Given the description of an element on the screen output the (x, y) to click on. 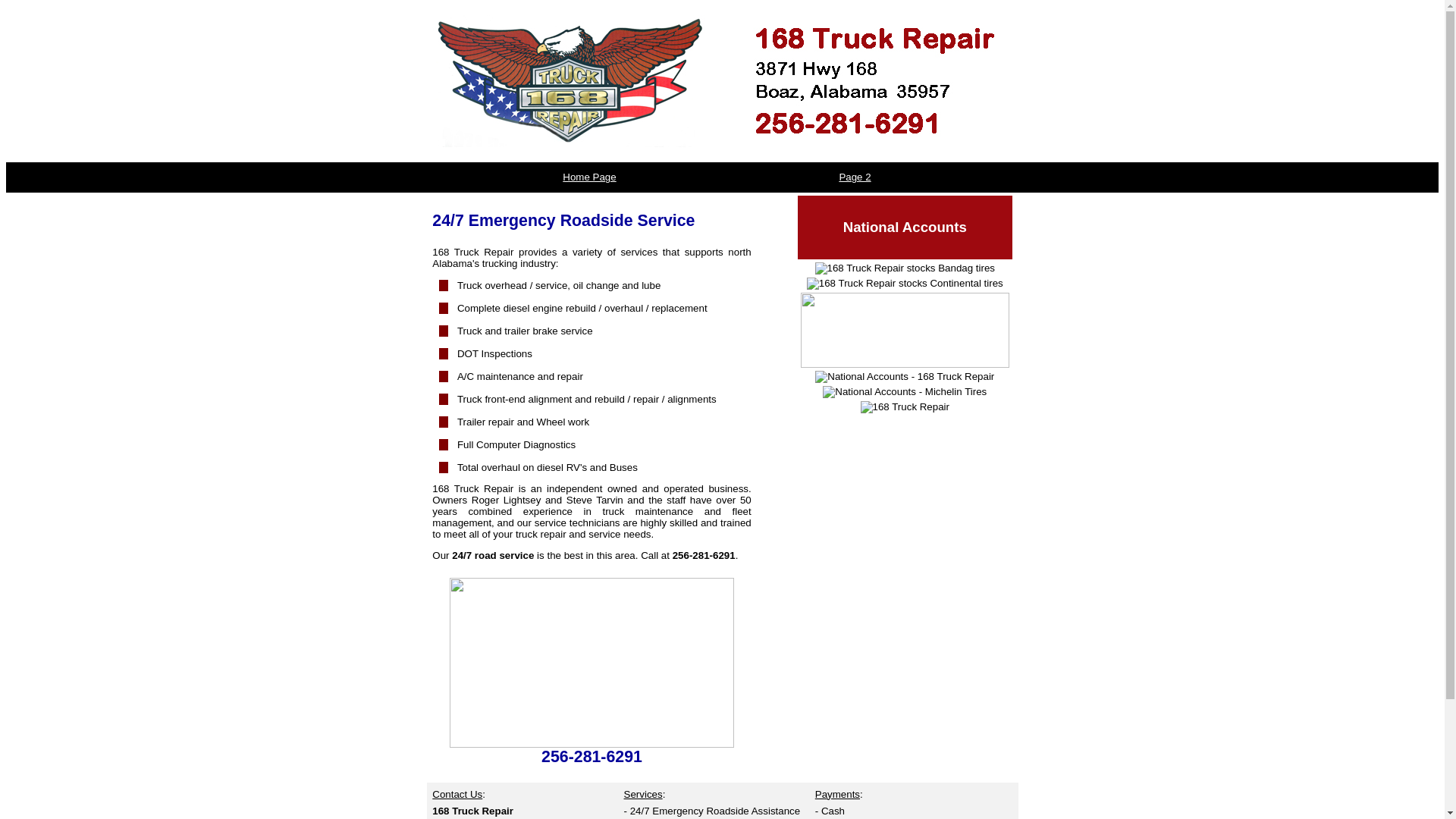
Home Page Element type: text (588, 176)
Page 2 Element type: text (854, 176)
